Given the description of an element on the screen output the (x, y) to click on. 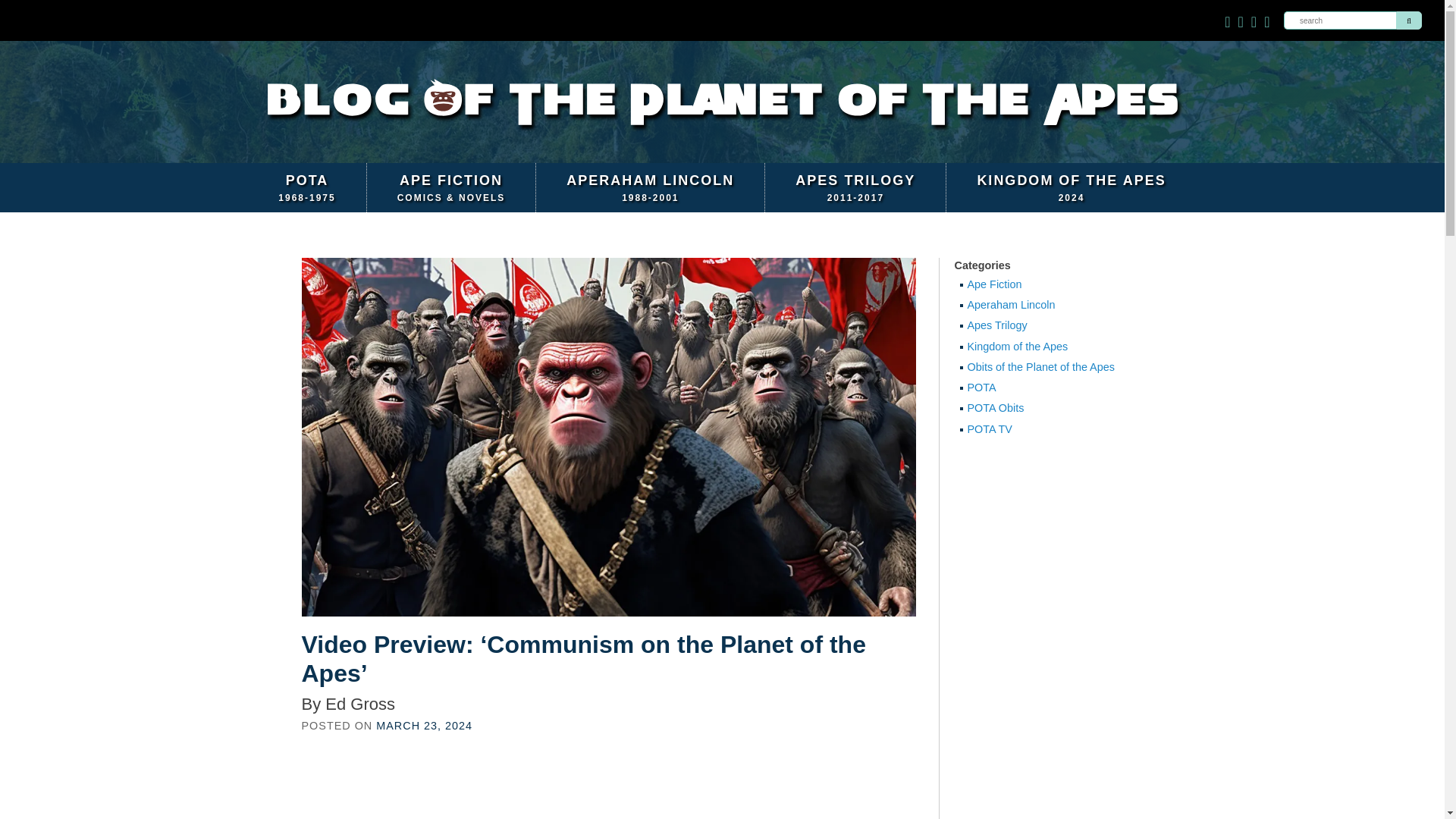
POTA TV (306, 187)
POTA Obits (650, 187)
Search (1070, 187)
Ape Fiction (1044, 429)
Kingdom of the Apes (1044, 408)
POTA (1409, 20)
MARCH 23, 2024 (1044, 284)
